Given the description of an element on the screen output the (x, y) to click on. 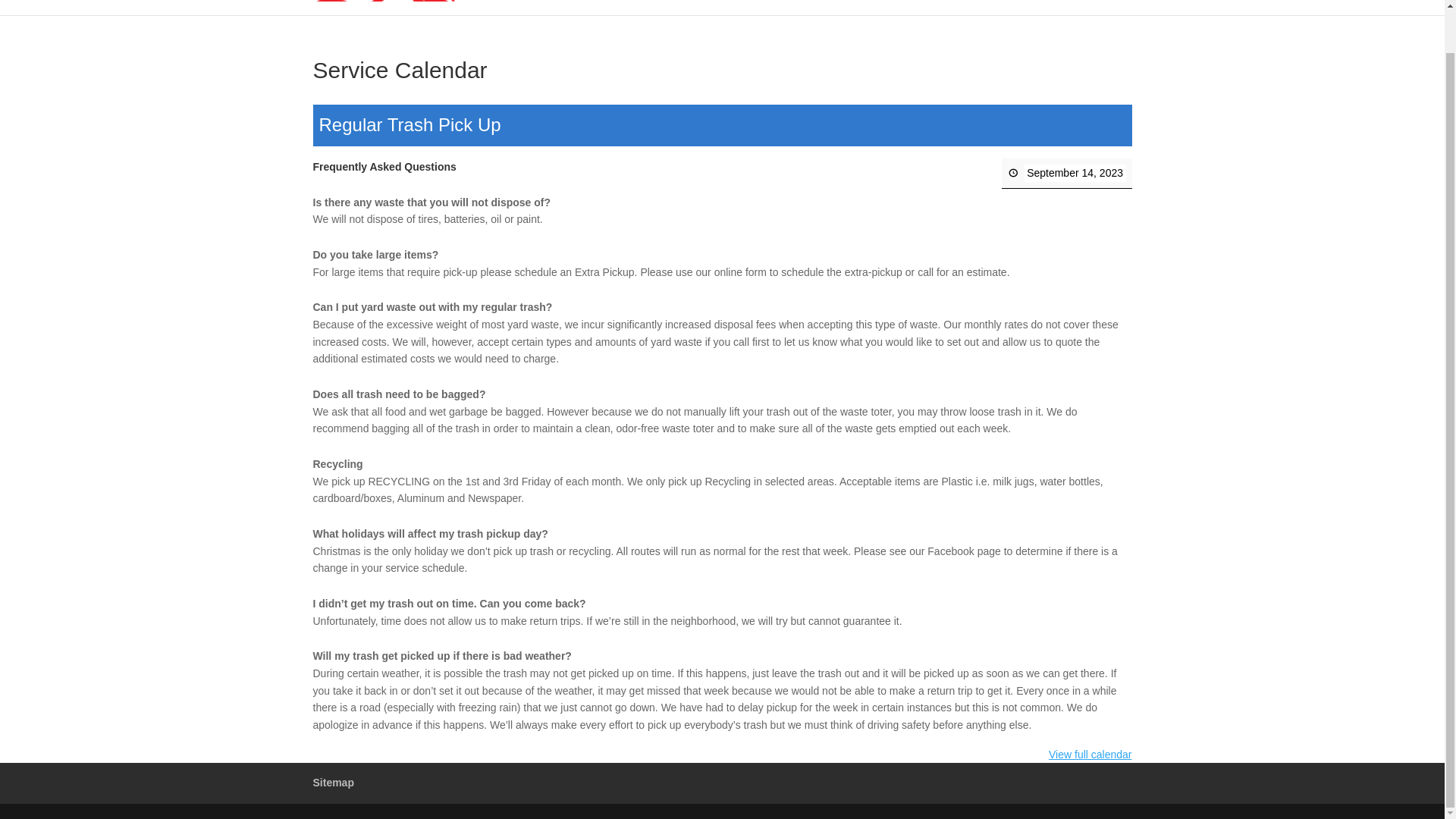
Sitemap (333, 782)
Policies (1015, 7)
Services (740, 7)
Calendar (1079, 7)
2023-09-14T00:00:00-05:00 (1074, 173)
FAQs (962, 7)
View full calendar (1089, 754)
Contact Us (901, 7)
Home (675, 7)
Pay Your Bill (821, 7)
